Given the description of an element on the screen output the (x, y) to click on. 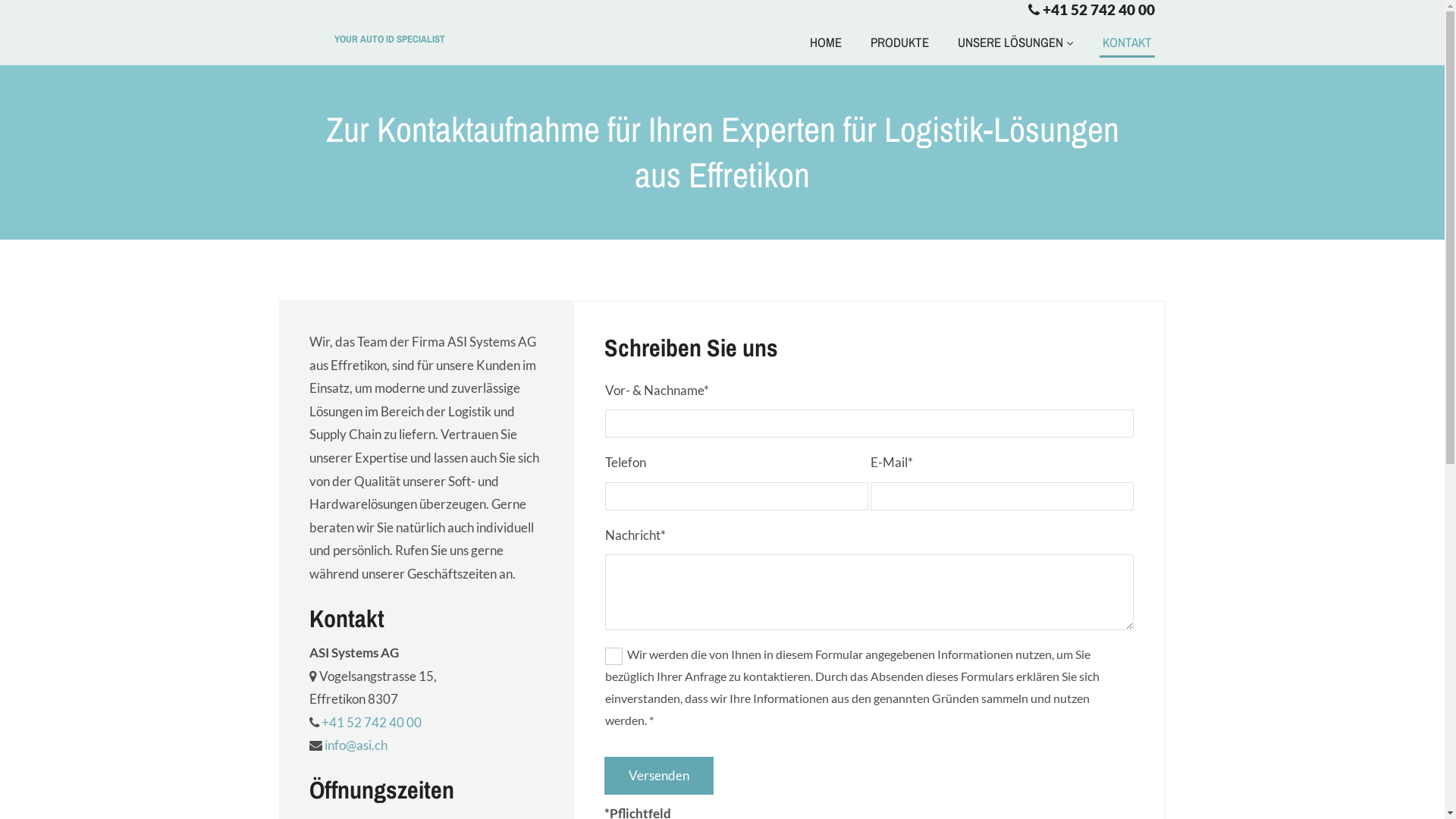
KONTAKT Element type: text (1126, 44)
+41 52 742 40 00 Element type: text (371, 722)
info@asi.ch Element type: text (355, 745)
Versenden Element type: text (658, 775)
HOME Element type: text (825, 44)
+41 52 742 40 00 Element type: text (1097, 9)
PRODUKTE Element type: text (899, 44)
YOUR AUTO ID SPECIALIST Element type: text (389, 38)
ASI Systems AG Element type: hover (289, 25)
